Given the description of an element on the screen output the (x, y) to click on. 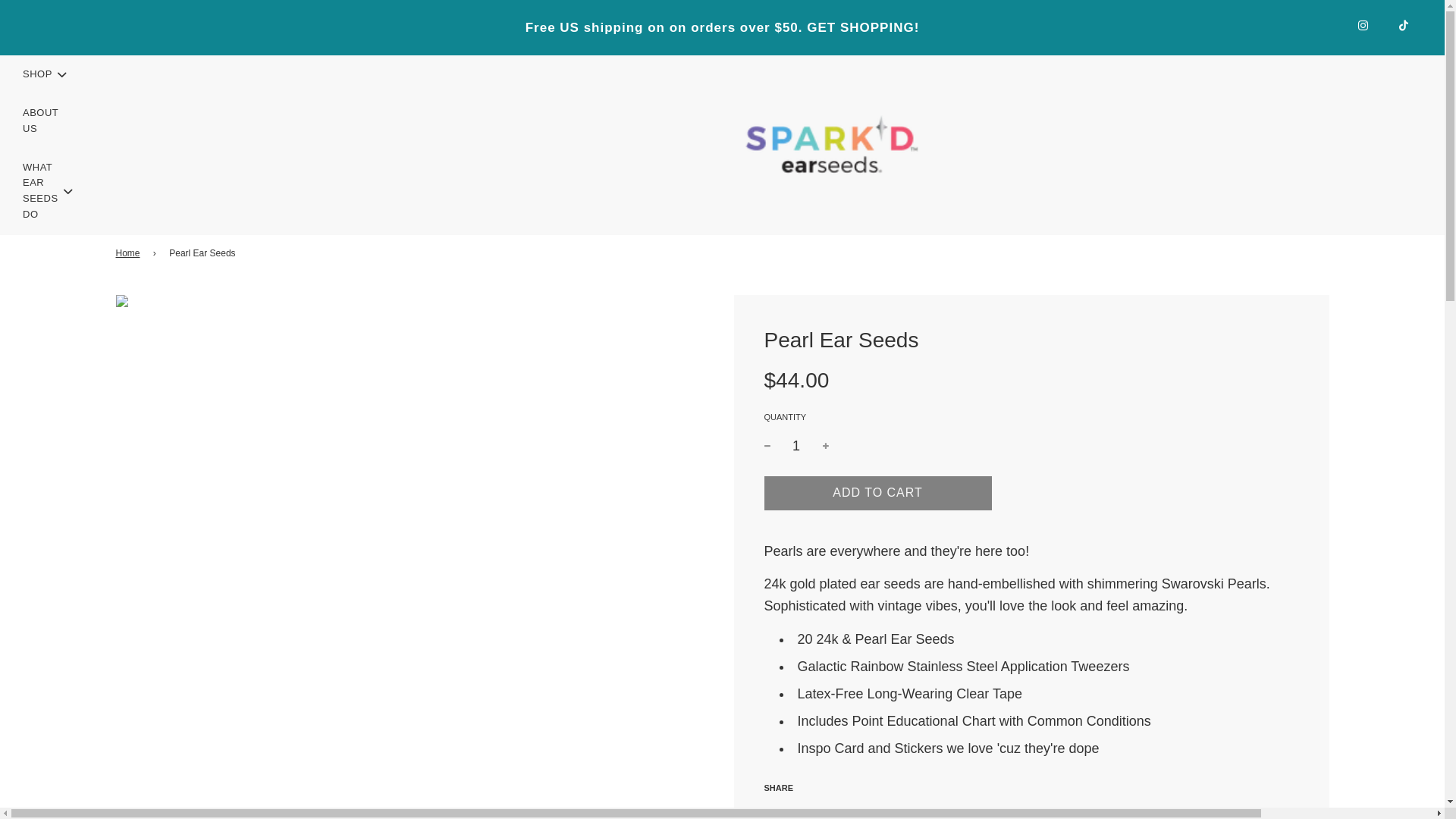
Back to the frontpage (129, 253)
1 (796, 446)
